Given the description of an element on the screen output the (x, y) to click on. 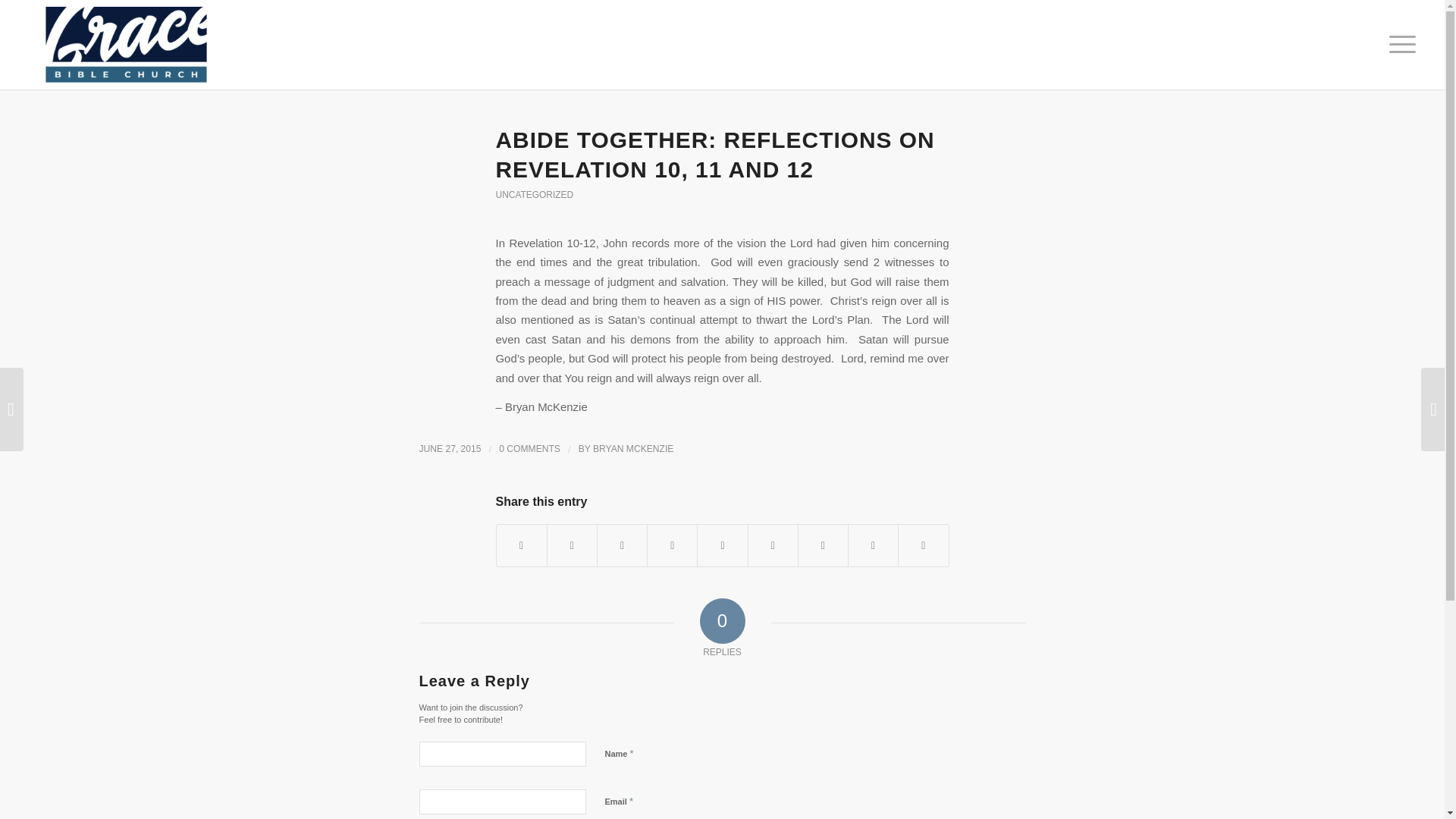
ABIDE TOGETHER: REFLECTIONS ON REVELATION 10, 11 AND 12 (715, 154)
Posts by Bryan McKenzie (632, 448)
0 COMMENTS (529, 448)
UNCATEGORIZED (534, 194)
BRYAN MCKENZIE (632, 448)
